Given the description of an element on the screen output the (x, y) to click on. 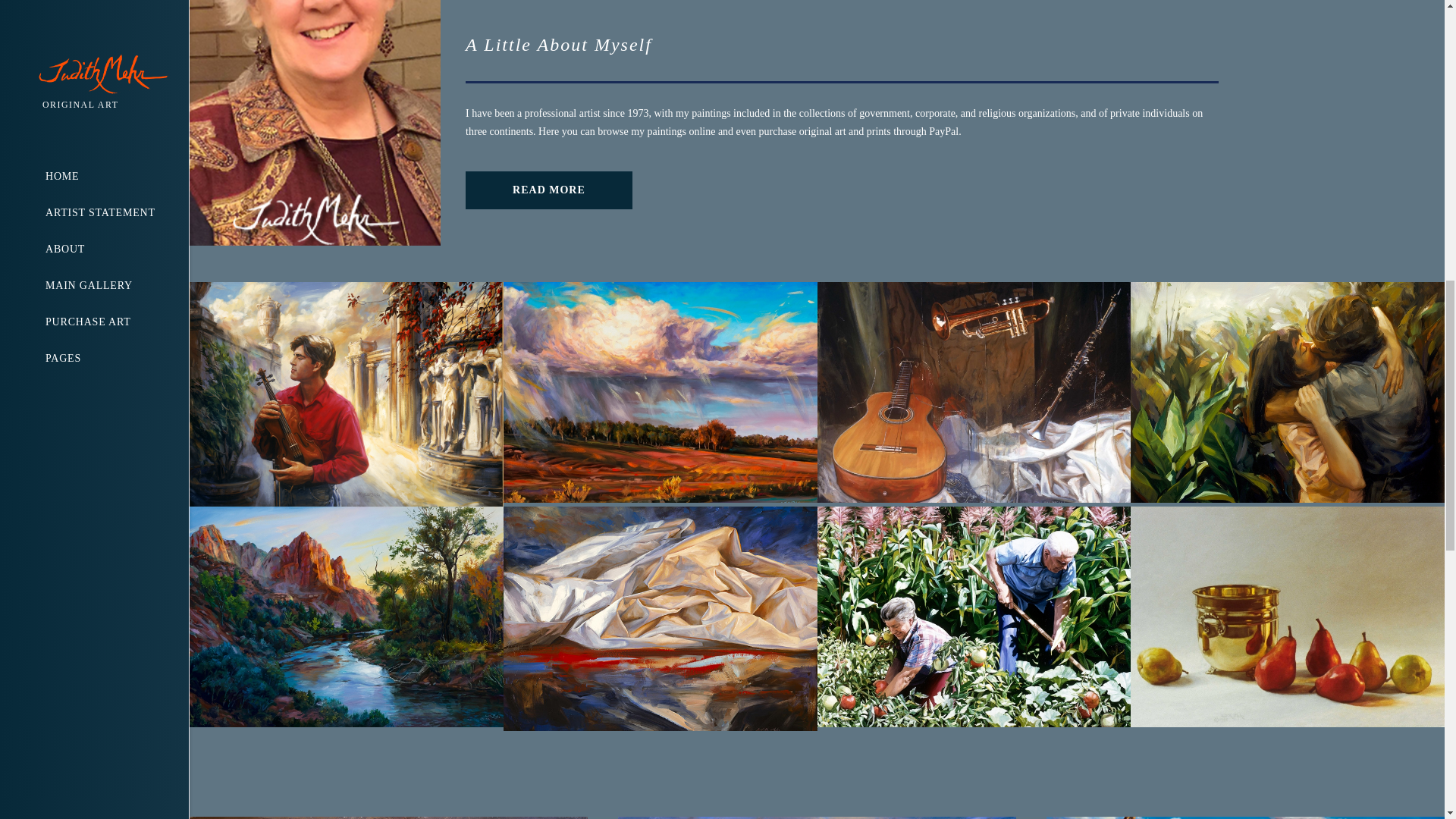
READ MORE (548, 190)
